Given the description of an element on the screen output the (x, y) to click on. 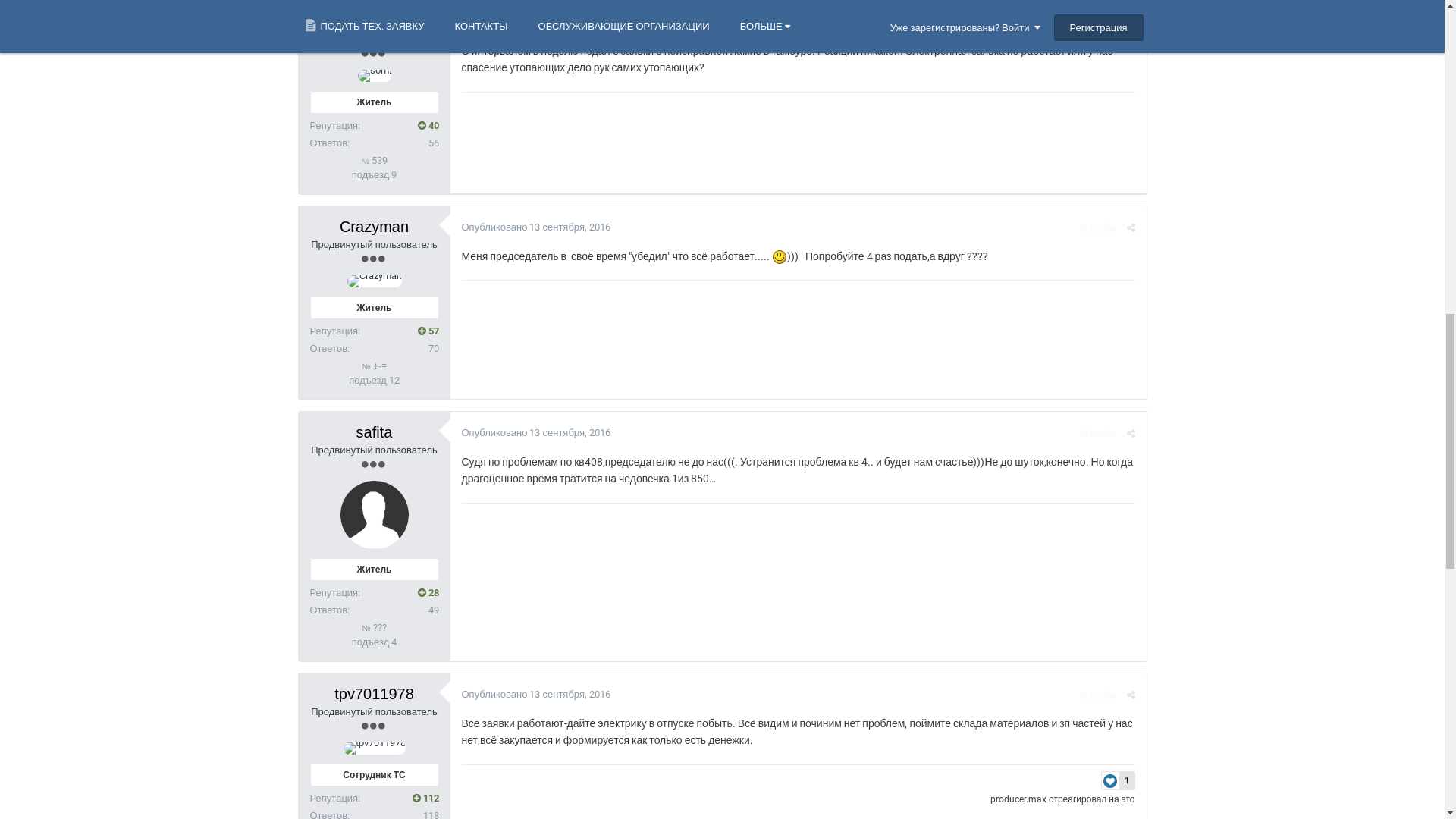
klimok Element type: text (917, 670)
strij Element type: text (406, 312)
klimok Element type: text (373, 719)
210 Element type: text (425, 546)
http://ts119.by/pz/ Element type: text (505, 483)
1 Element type: text (1118, 290)
strij Element type: text (373, 371)
Den_Ula Element type: text (979, 670)
10 Element type: text (1114, 651)
